Given the description of an element on the screen output the (x, y) to click on. 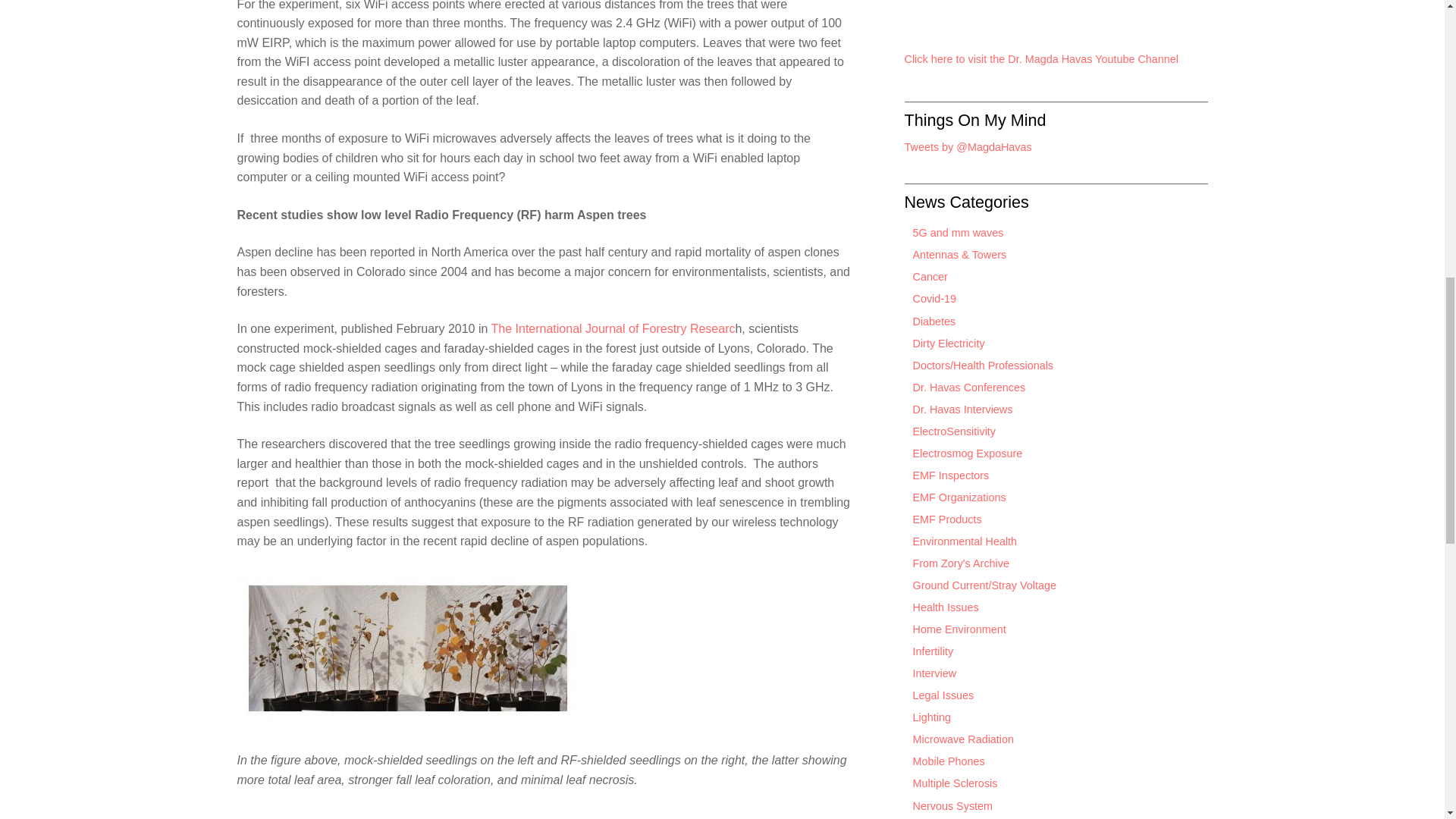
Products that reduce or measure EMFs. (942, 519)
Learn about the harmful and healthy effects of EMFs. (941, 607)
aspen (406, 648)
